Given the description of an element on the screen output the (x, y) to click on. 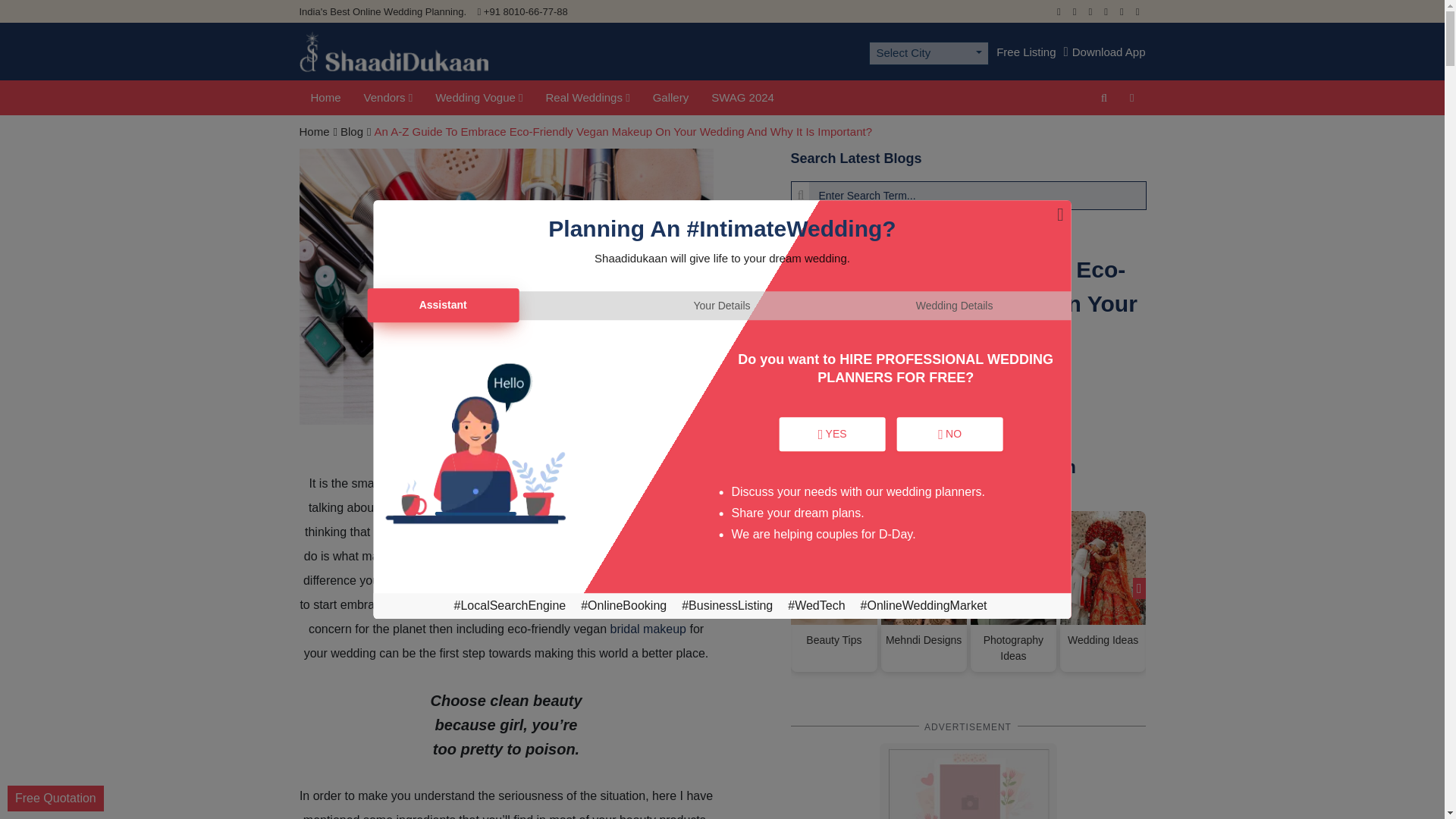
Home (325, 98)
Free Listing (1025, 51)
Vendors (388, 98)
Select City (928, 53)
Shashank Gupta (886, 414)
Download App (1104, 51)
